Given the description of an element on the screen output the (x, y) to click on. 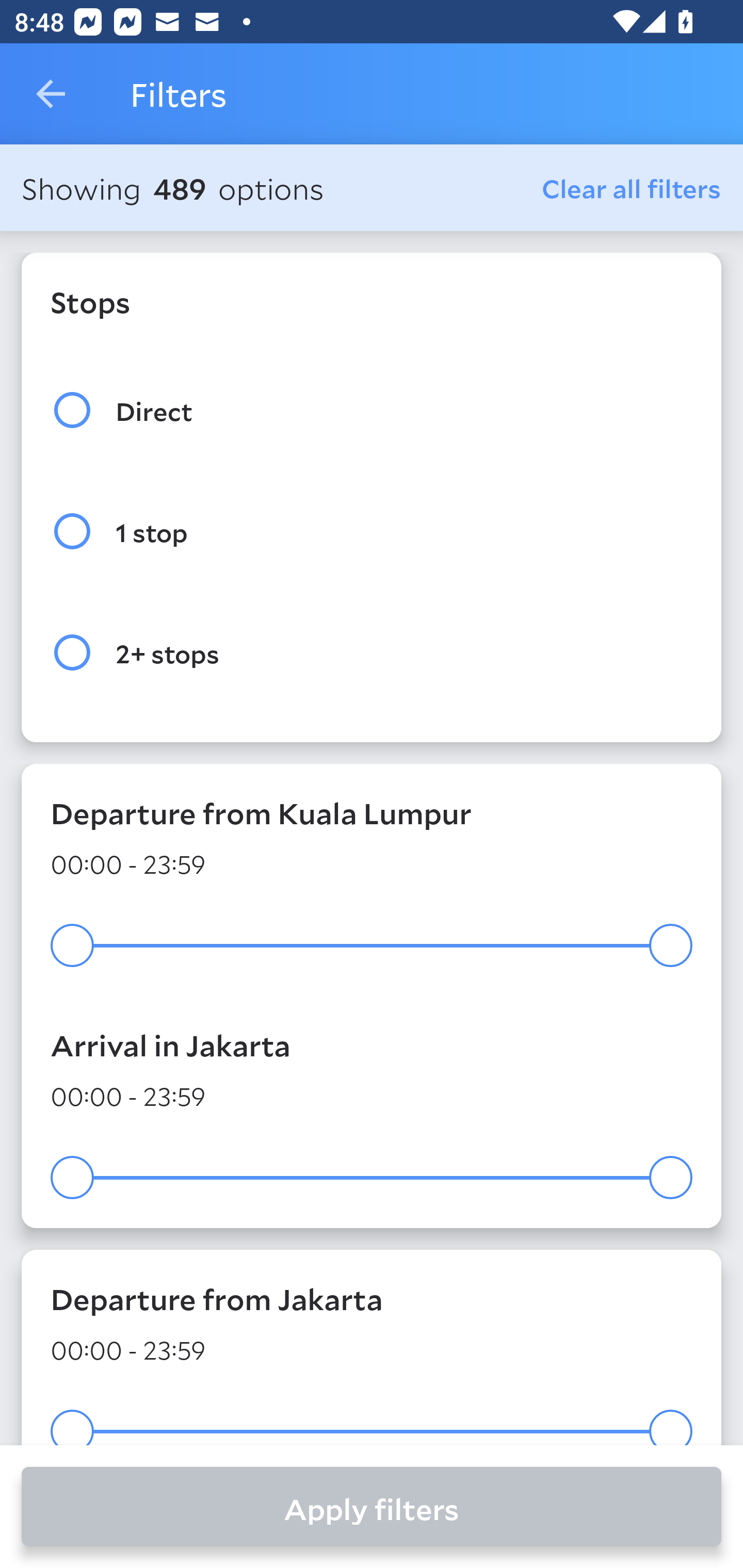
Navigate up (50, 93)
Clear all filters (631, 187)
Direct (371, 409)
1 stop (371, 531)
2+ stops (371, 652)
Apply filters (371, 1506)
